Given the description of an element on the screen output the (x, y) to click on. 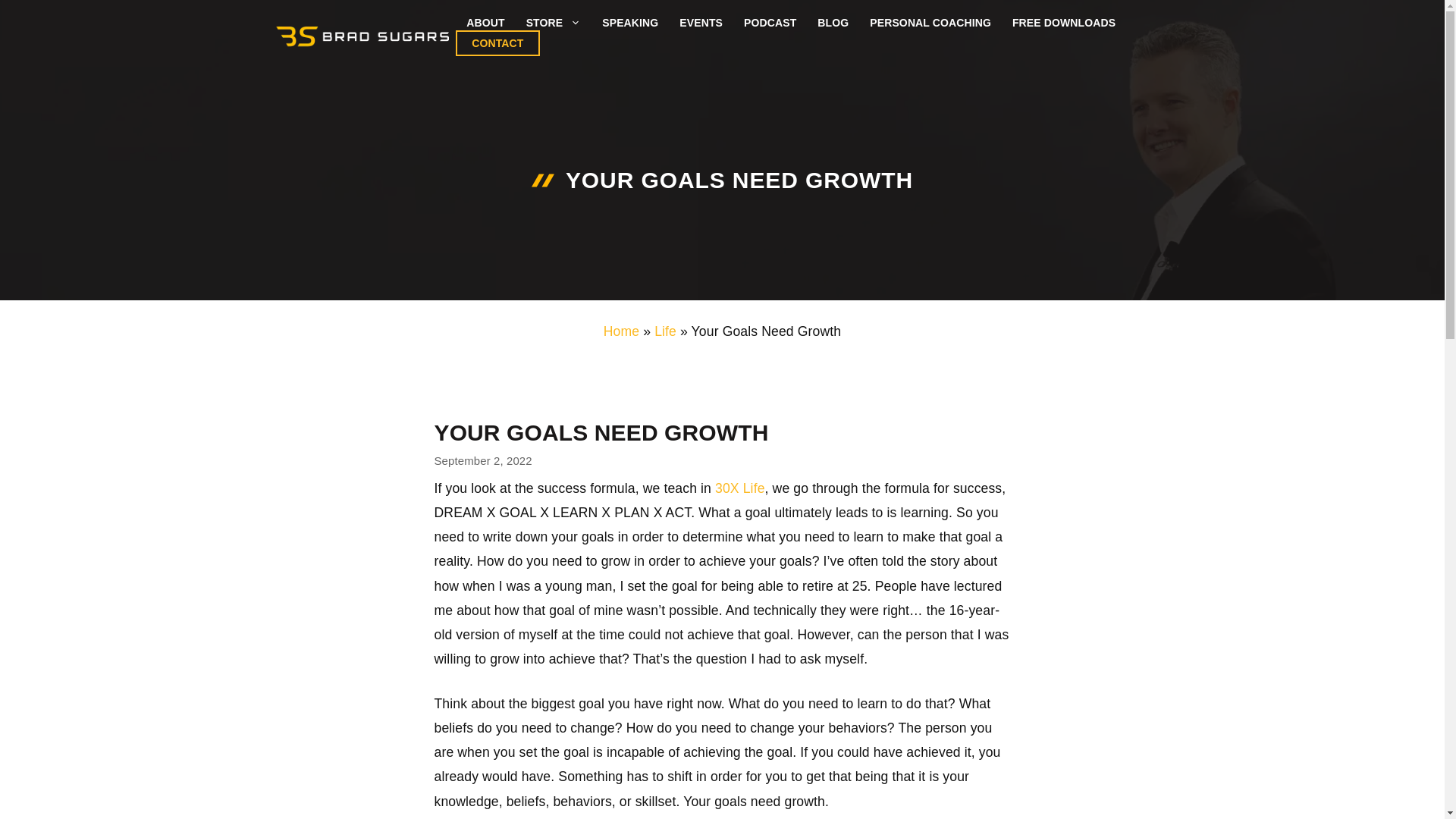
SPEAKING (629, 22)
FREE DOWNLOADS (1063, 22)
CONTACT (497, 43)
PERSONAL COACHING (930, 22)
STORE (553, 22)
ABOUT (485, 22)
PODCAST (769, 22)
EVENTS (700, 22)
Life (665, 331)
BLOG (832, 22)
Home (621, 331)
30X Life (739, 488)
